Given the description of an element on the screen output the (x, y) to click on. 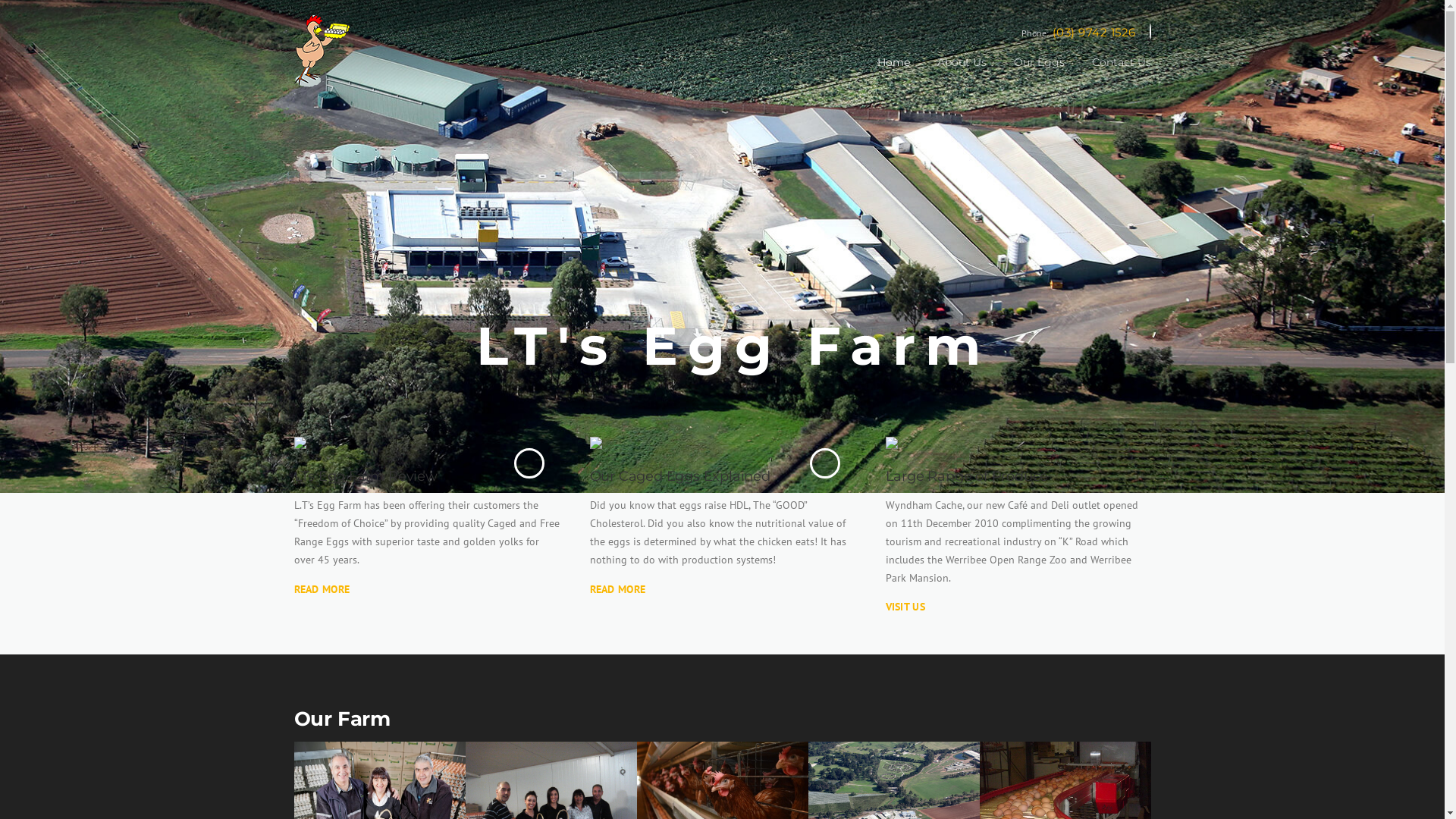
Contact Us Element type: text (1114, 73)
About Us Element type: text (961, 73)
READ MORE Element type: text (617, 589)
Our Eggs Element type: text (1038, 73)
READ MORE Element type: text (322, 589)
Home Element type: text (892, 73)
Email Element type: hover (1150, 31)
(03) 9742 1526 Element type: text (1093, 32)
VISIT US Element type: text (905, 606)
LTs Eggs Element type: hover (333, 49)
